Given the description of an element on the screen output the (x, y) to click on. 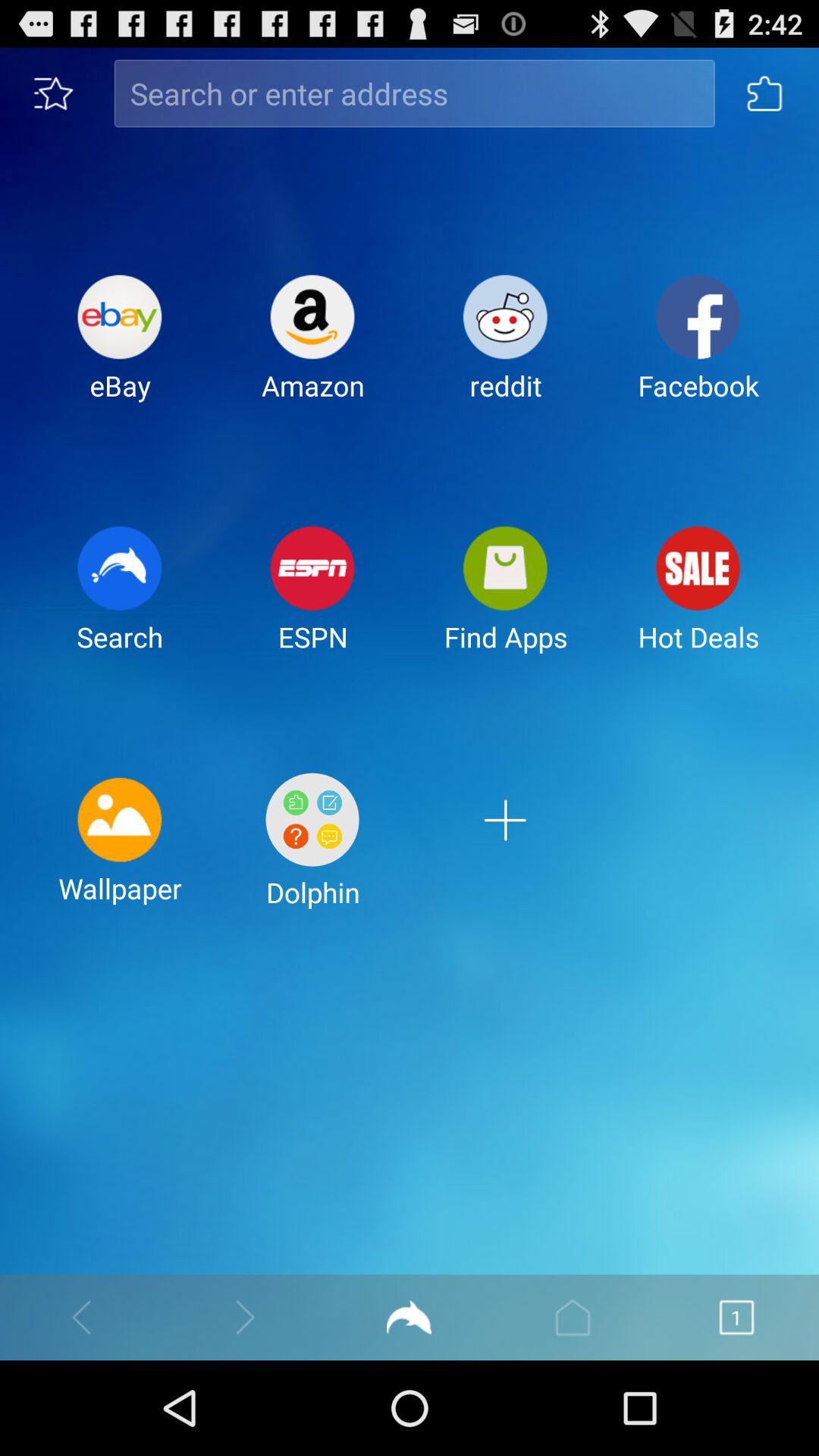
press icon above wallpaper icon (119, 601)
